Given the description of an element on the screen output the (x, y) to click on. 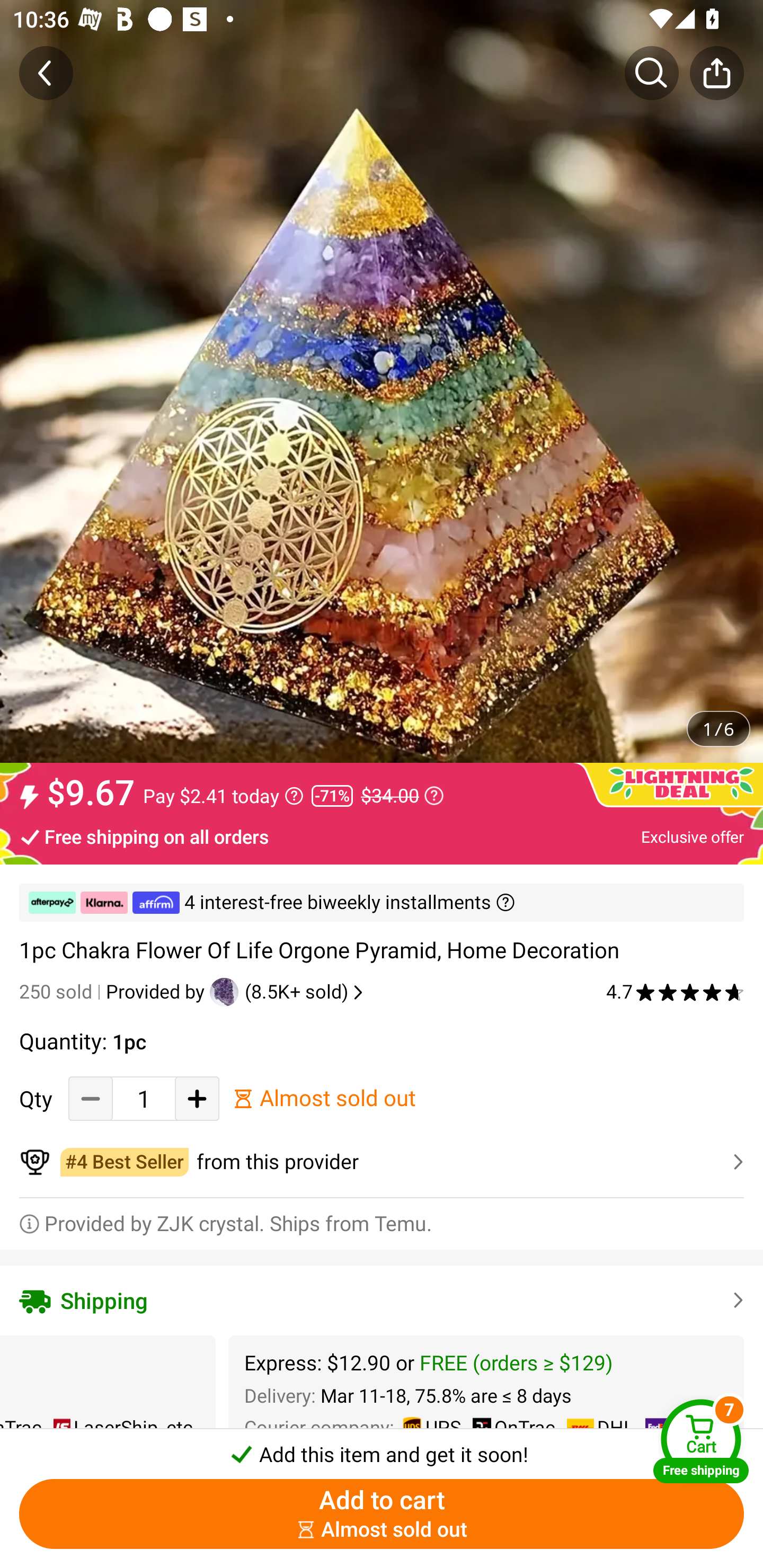
Back (46, 72)
Share (716, 72)
Pay $2.41 today   (223, 795)
Free shipping on all orders Exclusive offer (381, 836)
￼ ￼ ￼ 4 interest-free biweekly installments ￼ (381, 902)
250 sold Provided by  (114, 992)
4.7 (674, 992)
Decrease Quantity Button (90, 1098)
1 (143, 1098)
Add Quantity button (196, 1098)
￼￼from this provider (381, 1162)
Shipping (381, 1300)
Cart Free shipping Cart (701, 1440)
￼￼Add this item and get it soon!  (381, 1448)
Add to cart ￼￼Almost sold out (381, 1513)
